Given the description of an element on the screen output the (x, y) to click on. 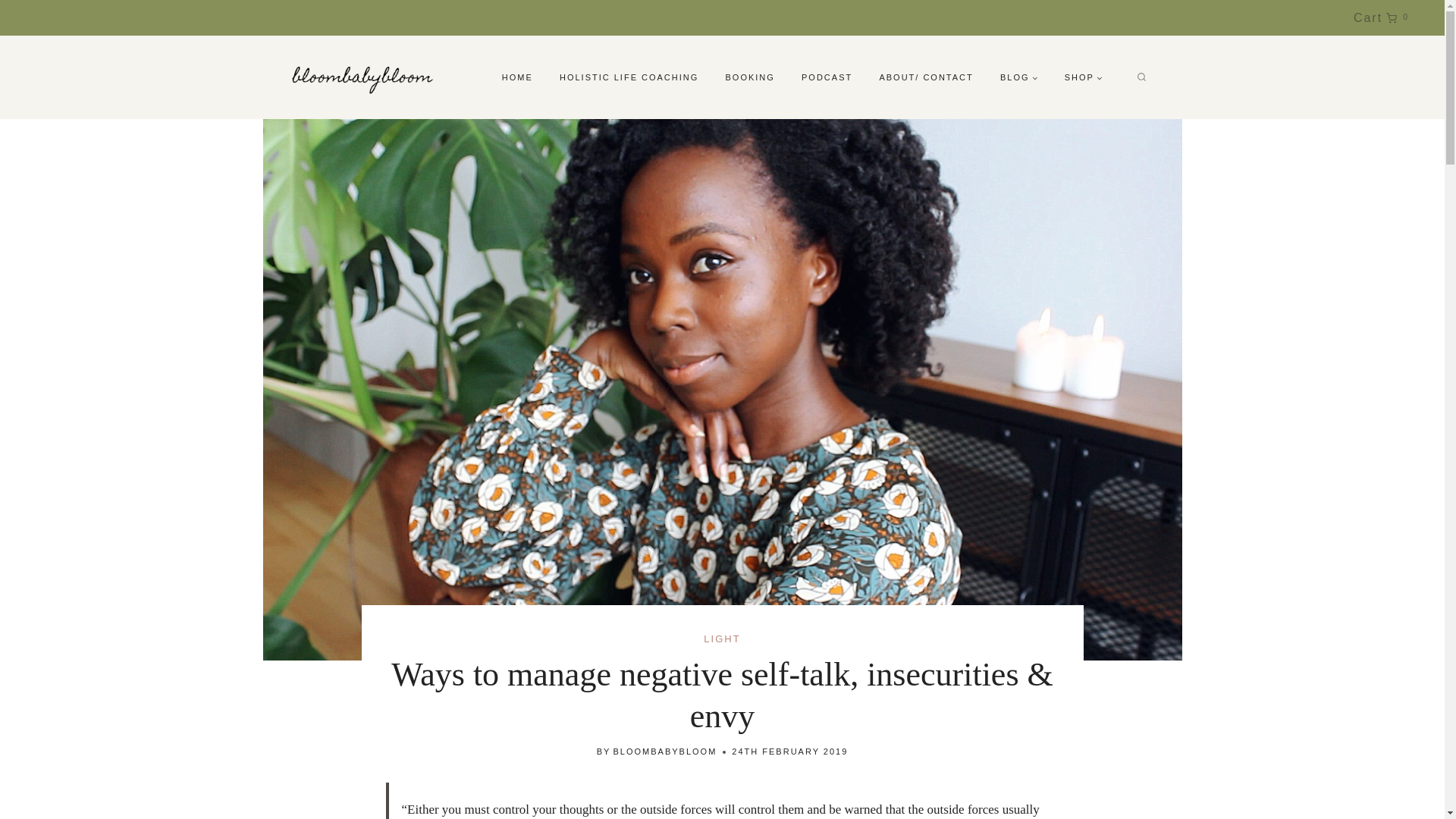
LIGHT (721, 638)
BLOG (1019, 76)
HOLISTIC LIFE COACHING (628, 76)
PODCAST (825, 76)
SHOP (1377, 17)
BLOOMBABYBLOOM (1083, 76)
BOOKING (664, 750)
HOME (750, 76)
